Given the description of an element on the screen output the (x, y) to click on. 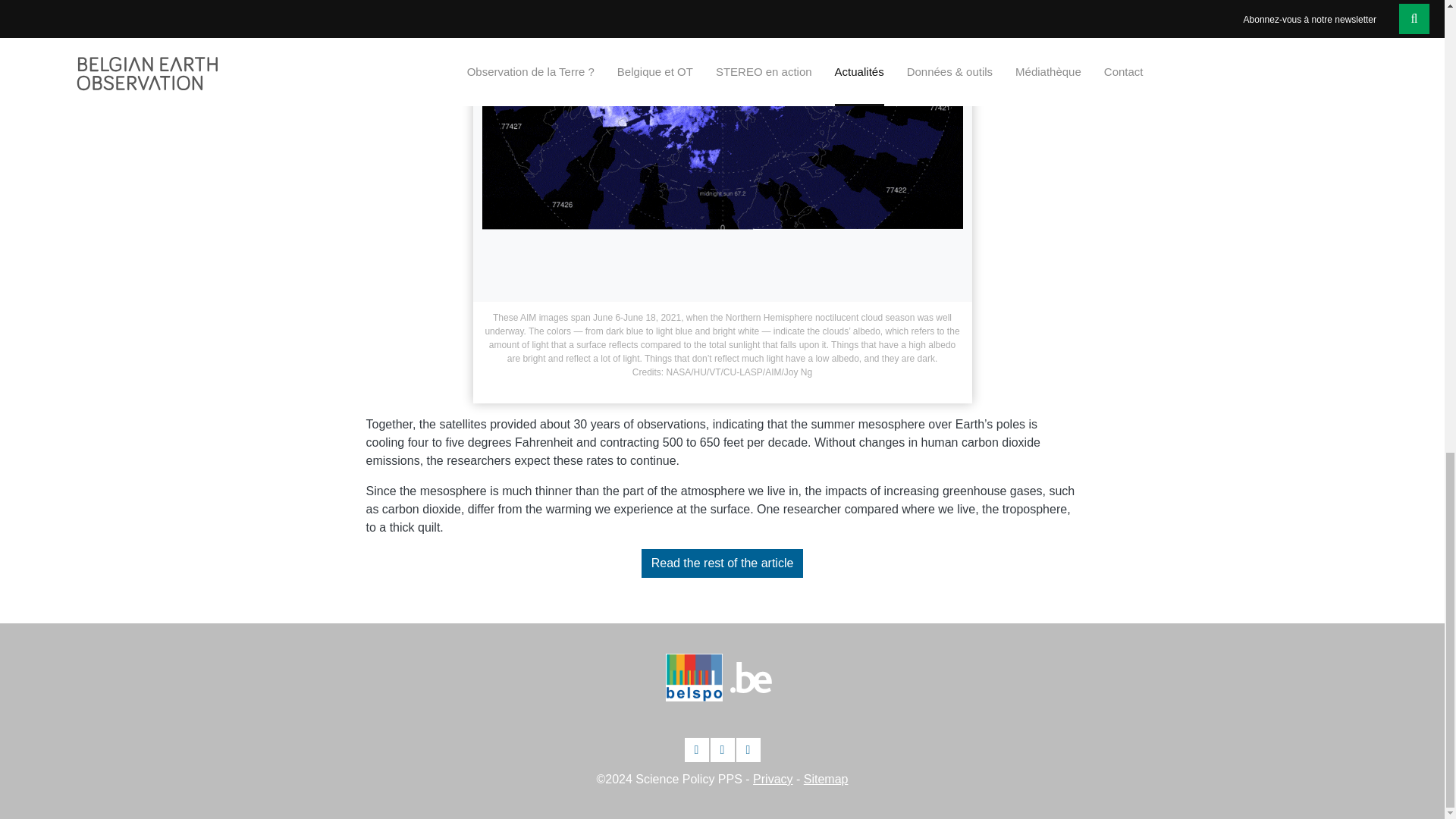
Belgian Science Policy Office (697, 683)
Read the rest of the article (722, 563)
Belgium.be (750, 676)
Privacy (772, 779)
Sitemap (825, 779)
